Given the description of an element on the screen output the (x, y) to click on. 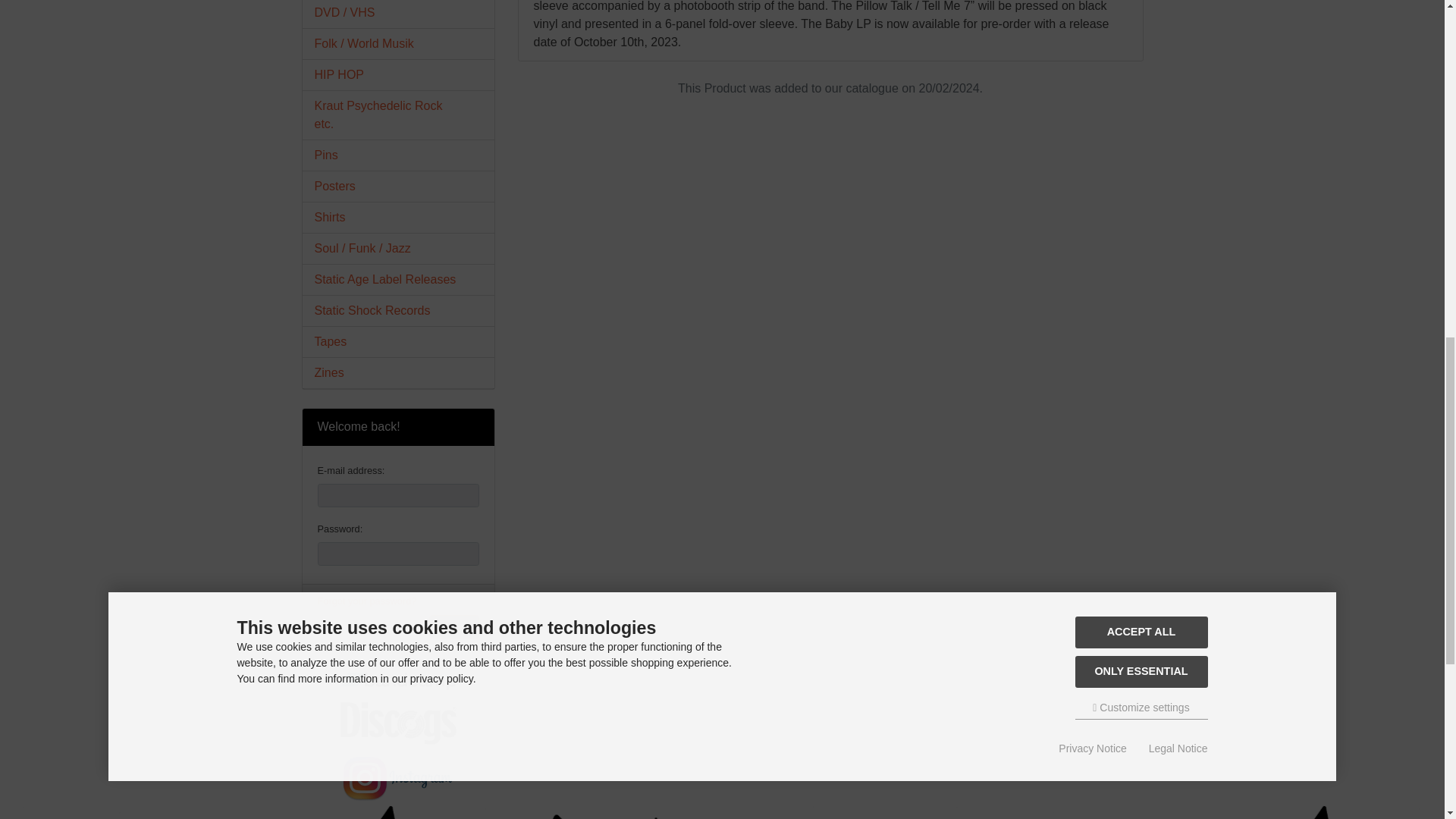
HIP HOP (397, 74)
Shirts (397, 217)
Kraut Psychedelic Rock etc. (397, 114)
Posters (397, 186)
Tapes (397, 341)
Pins (397, 155)
Static Shock Records (397, 310)
Zines (397, 372)
Forgot your password? (366, 600)
Static Age Label Releases (397, 279)
